Given the description of an element on the screen output the (x, y) to click on. 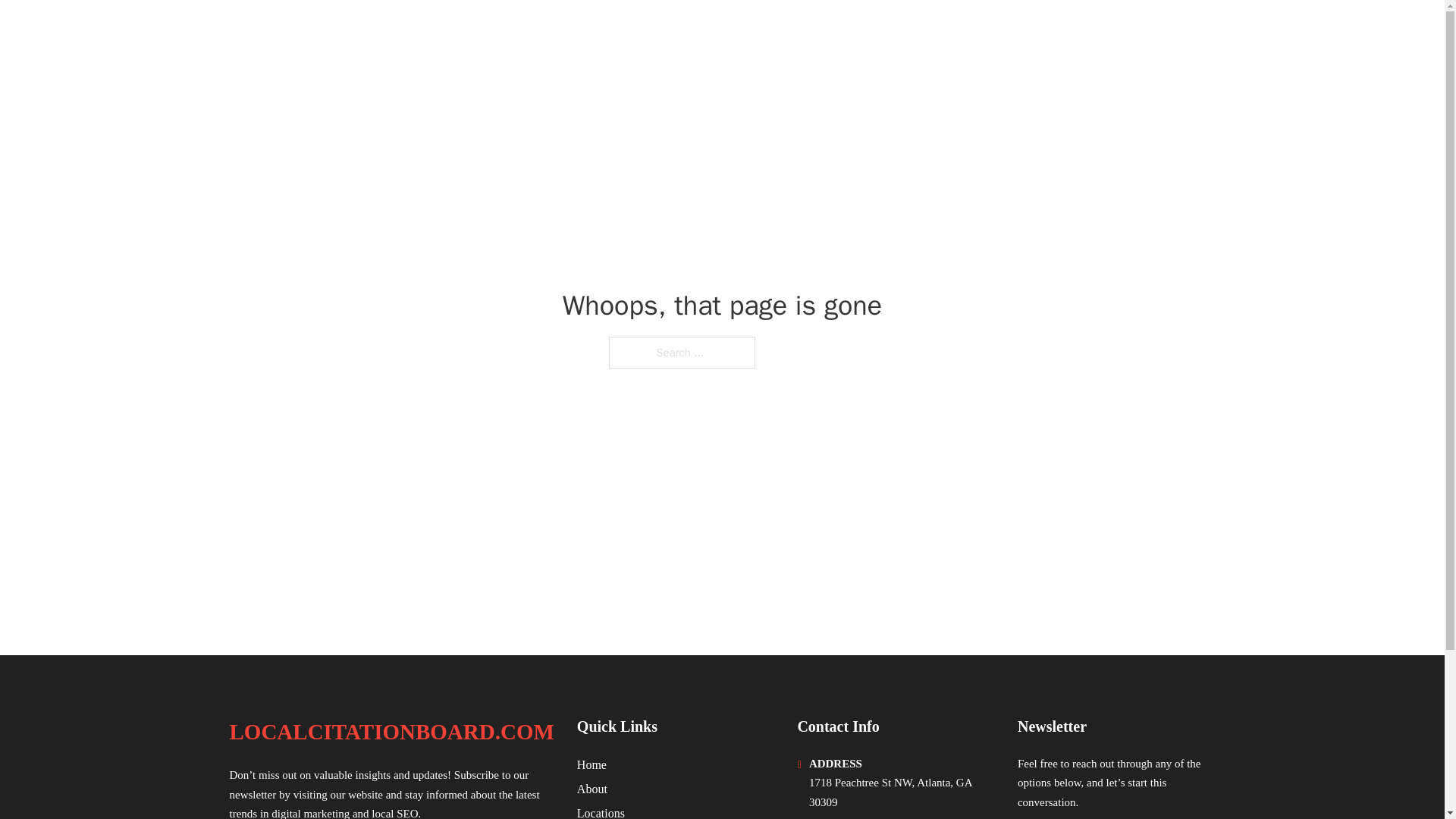
LOCALCITATIONBOARD.COM (390, 732)
About (591, 788)
Locations (600, 811)
LOCALCITATIONBOARD.COM (408, 31)
HOME (1025, 31)
Home (591, 764)
LOCATIONS (1098, 31)
